Given the description of an element on the screen output the (x, y) to click on. 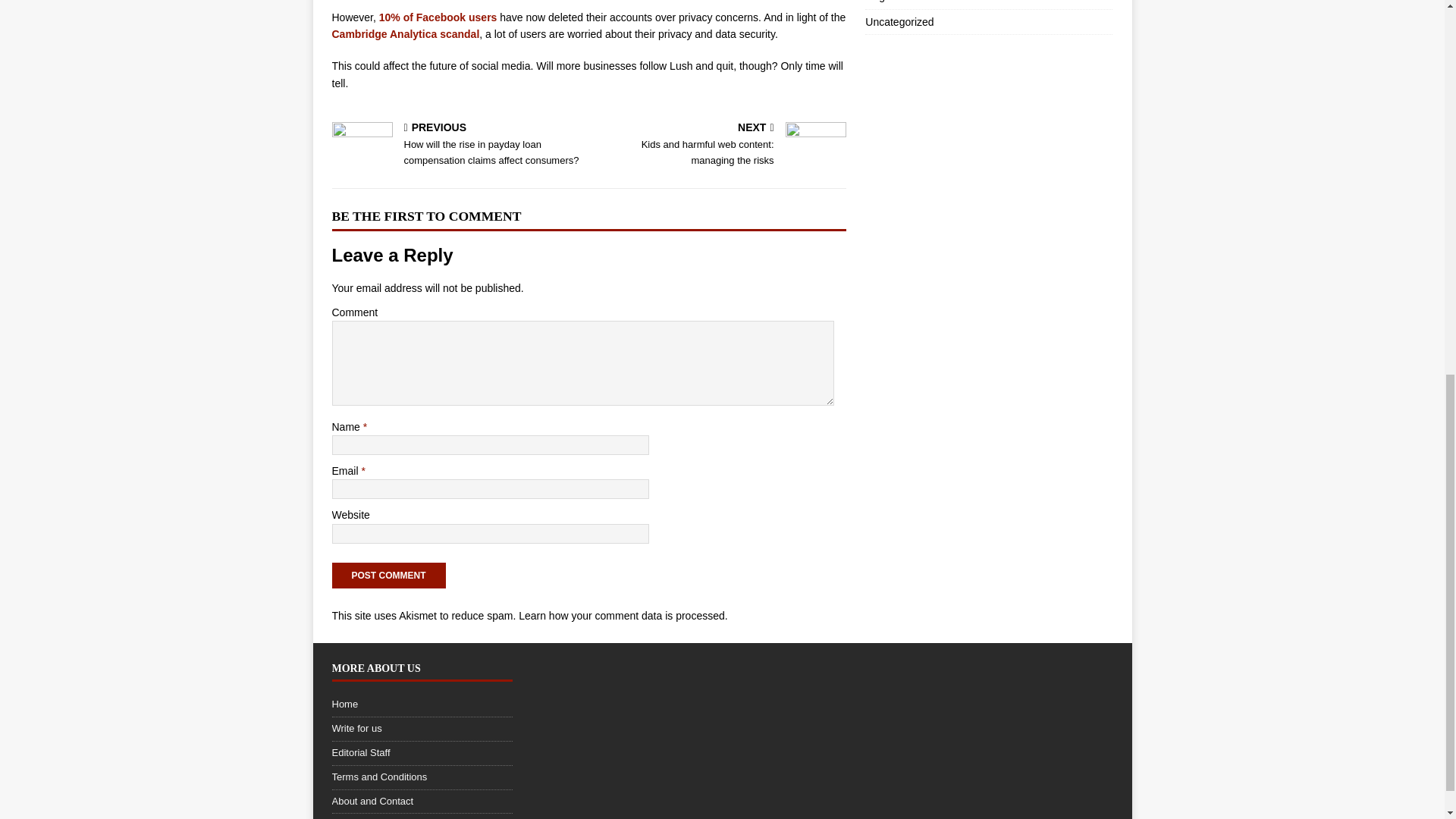
Editorial Staff (720, 145)
Post Comment (421, 753)
Cambridge Analytica scandal (388, 575)
Home (405, 33)
Learn how your comment data is processed (421, 706)
Regulation (621, 615)
Uncategorized (988, 4)
Post Comment (988, 21)
Write for us (388, 575)
